Given the description of an element on the screen output the (x, y) to click on. 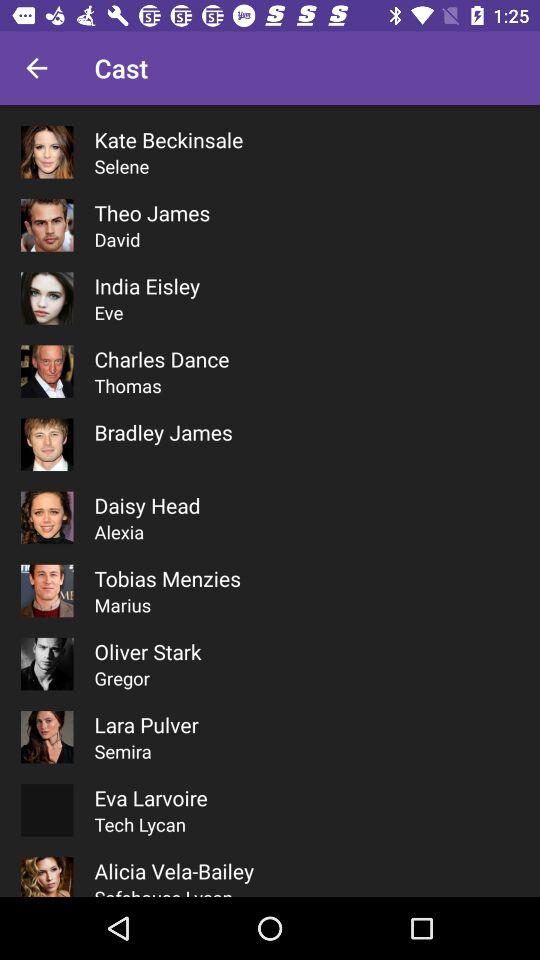
flip until theo james (152, 212)
